Given the description of an element on the screen output the (x, y) to click on. 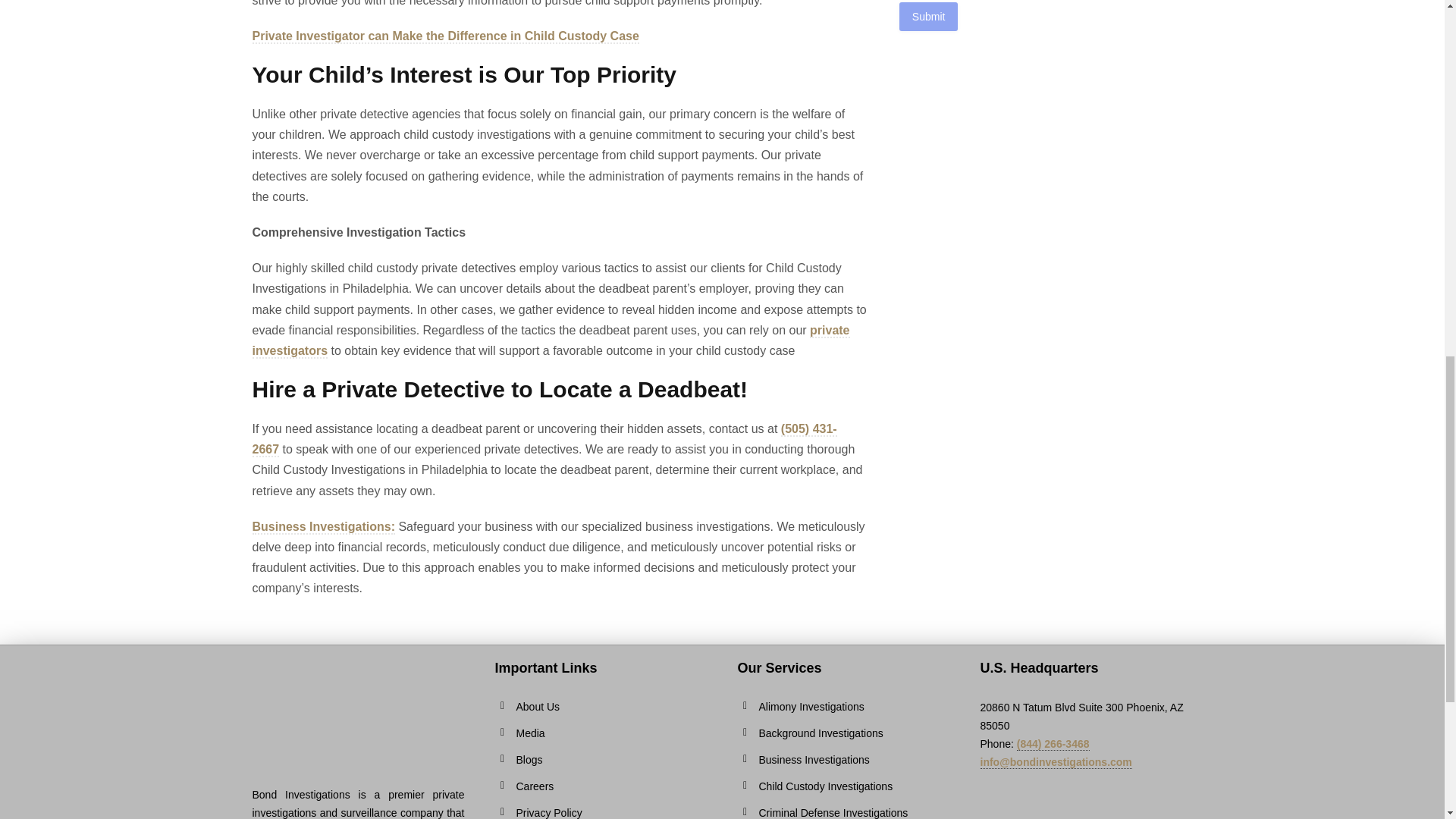
Submit (928, 16)
